Given the description of an element on the screen output the (x, y) to click on. 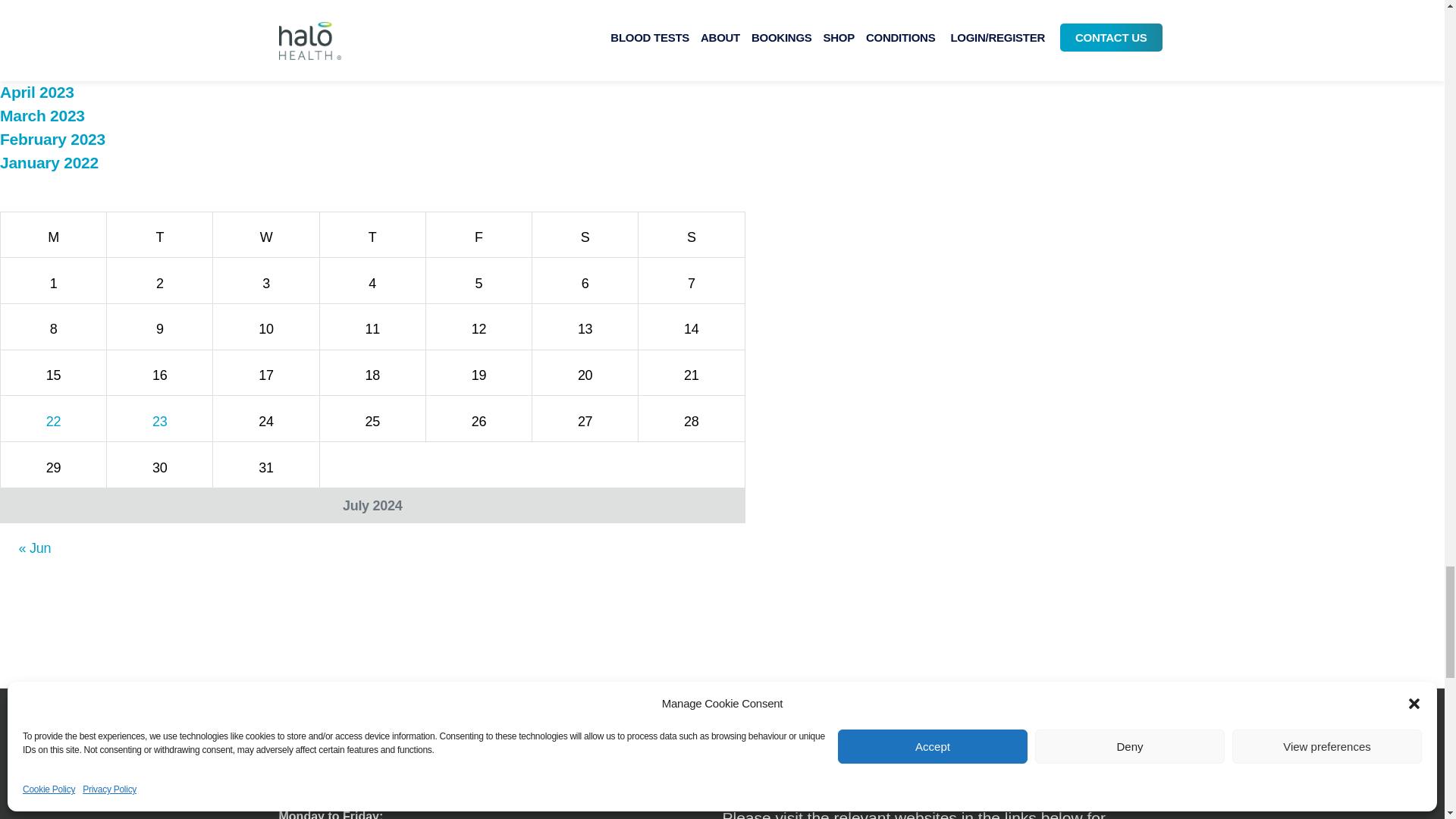
Sunday (691, 234)
Thursday (371, 234)
Saturday (585, 234)
Tuesday (159, 234)
Wednesday (265, 234)
Monday (53, 234)
Friday (478, 234)
